Given the description of an element on the screen output the (x, y) to click on. 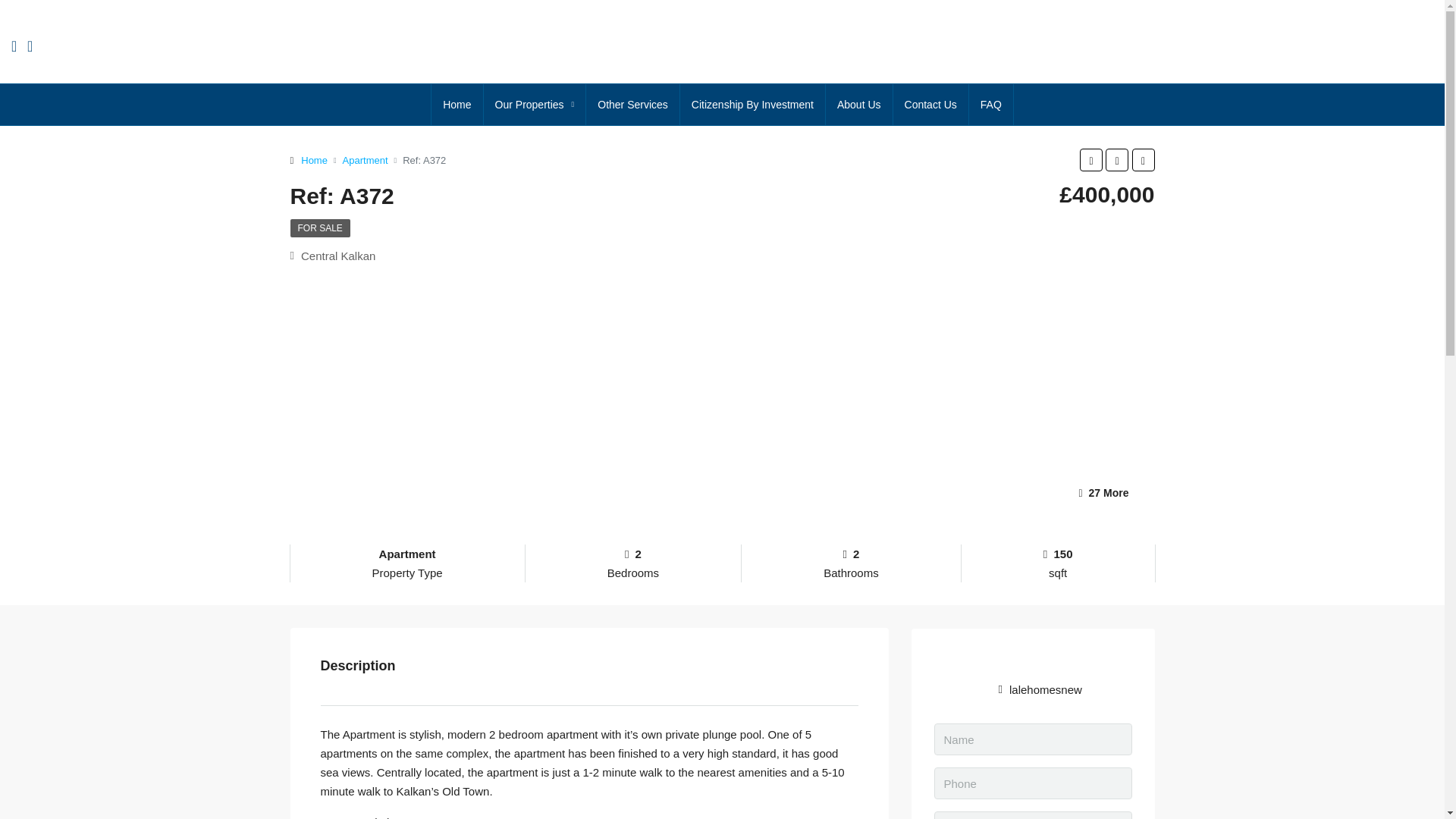
FAQ (991, 104)
Contact Us (930, 104)
Citizenship By Investment (752, 104)
Home (455, 104)
Home (314, 158)
About Us (858, 104)
Apartment (365, 158)
Our Properties (534, 104)
FOR SALE (319, 228)
Other Services (632, 104)
